Given the description of an element on the screen output the (x, y) to click on. 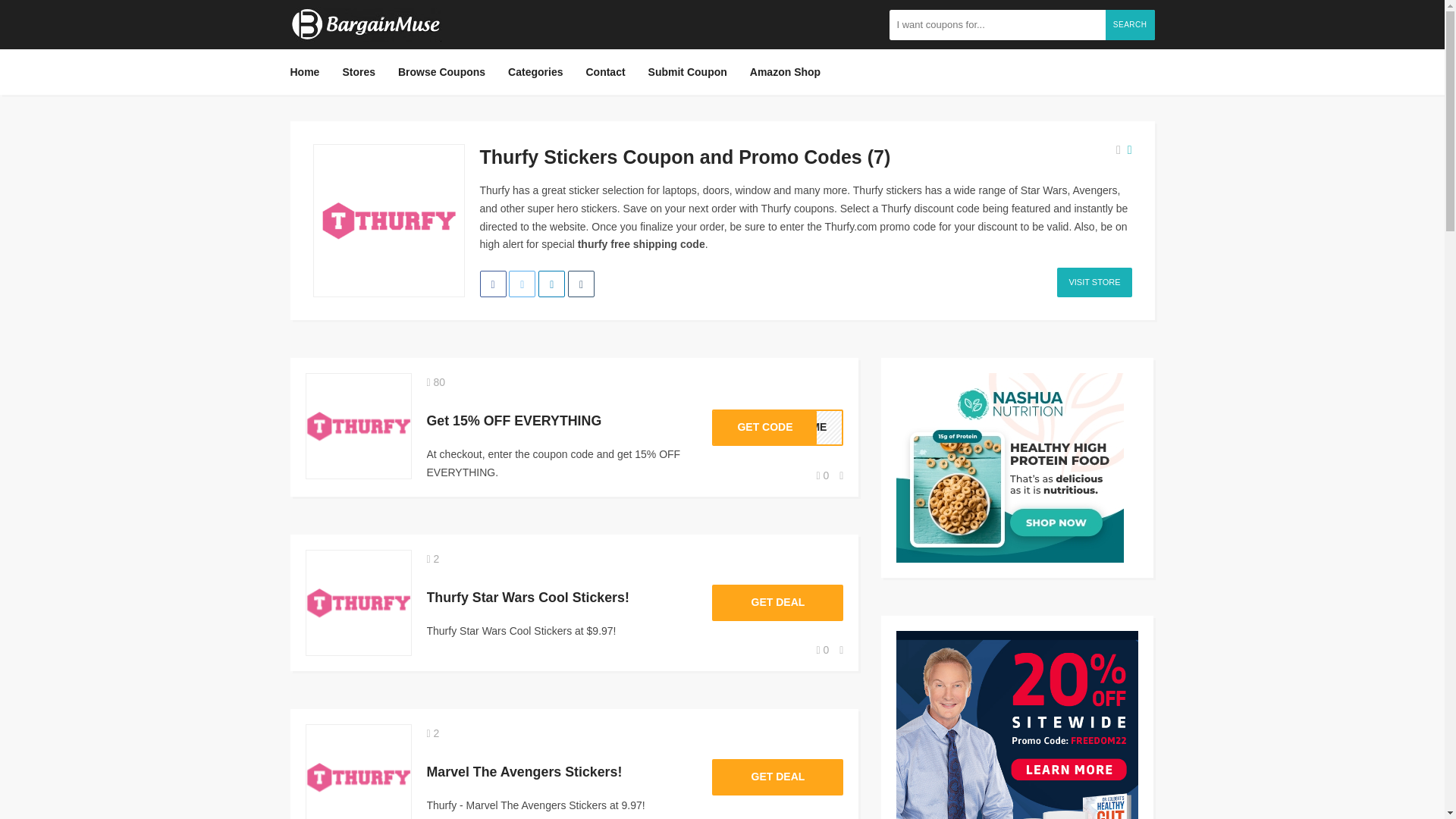
Share on Tumblr (580, 284)
Home (309, 71)
SEARCH (1129, 24)
0 (822, 649)
VISIT STORE (1094, 282)
Stores (358, 71)
Categories (777, 427)
0 (534, 71)
Amazon Shop (822, 475)
